Given the description of an element on the screen output the (x, y) to click on. 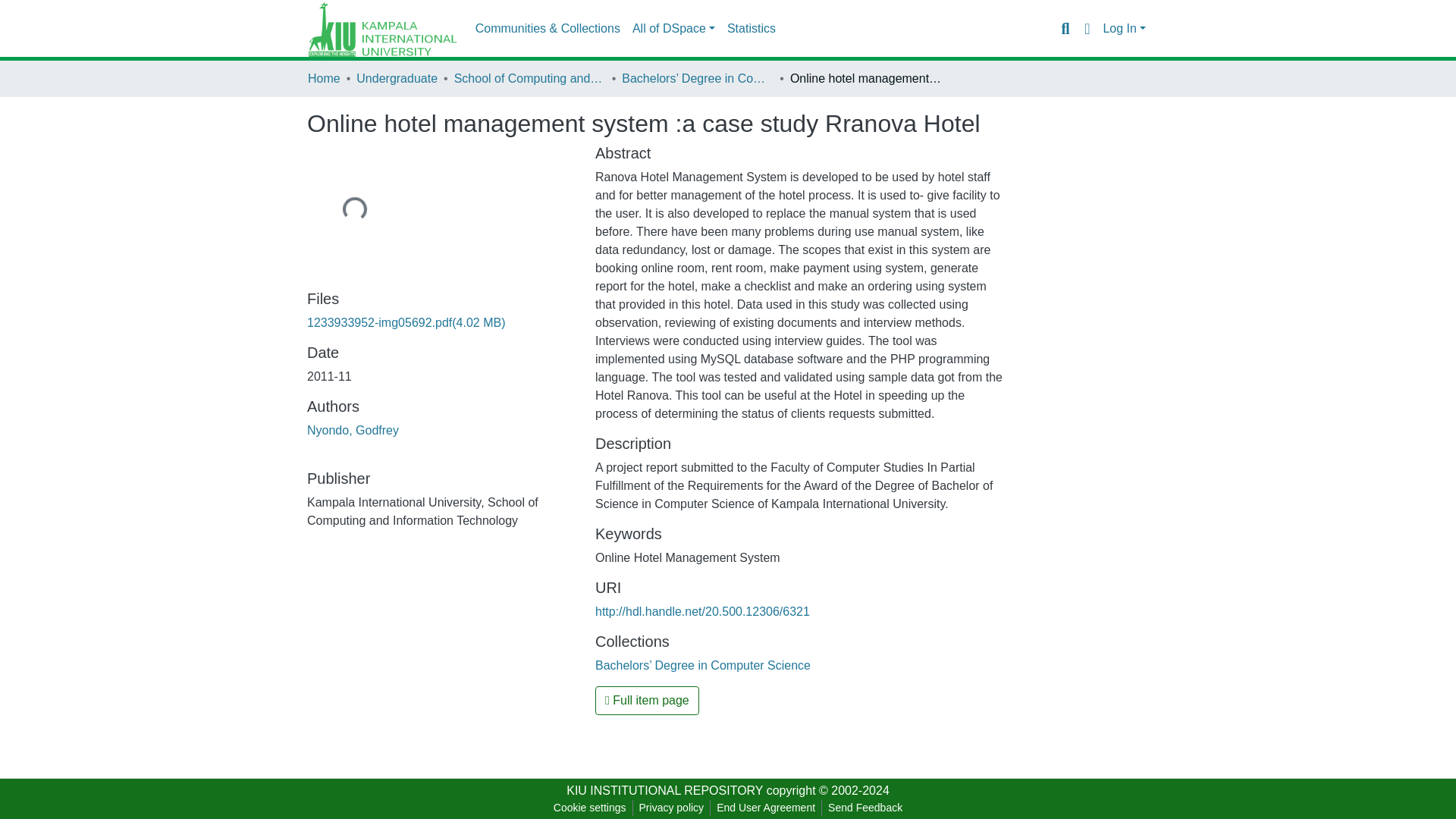
Language switch (1086, 28)
Nyondo, Godfrey (352, 430)
Undergraduate (397, 78)
Privacy policy (671, 807)
Full item page (646, 700)
Send Feedback (865, 807)
End User Agreement (765, 807)
Home (323, 78)
Statistics (750, 28)
Search (1064, 28)
